Given the description of an element on the screen output the (x, y) to click on. 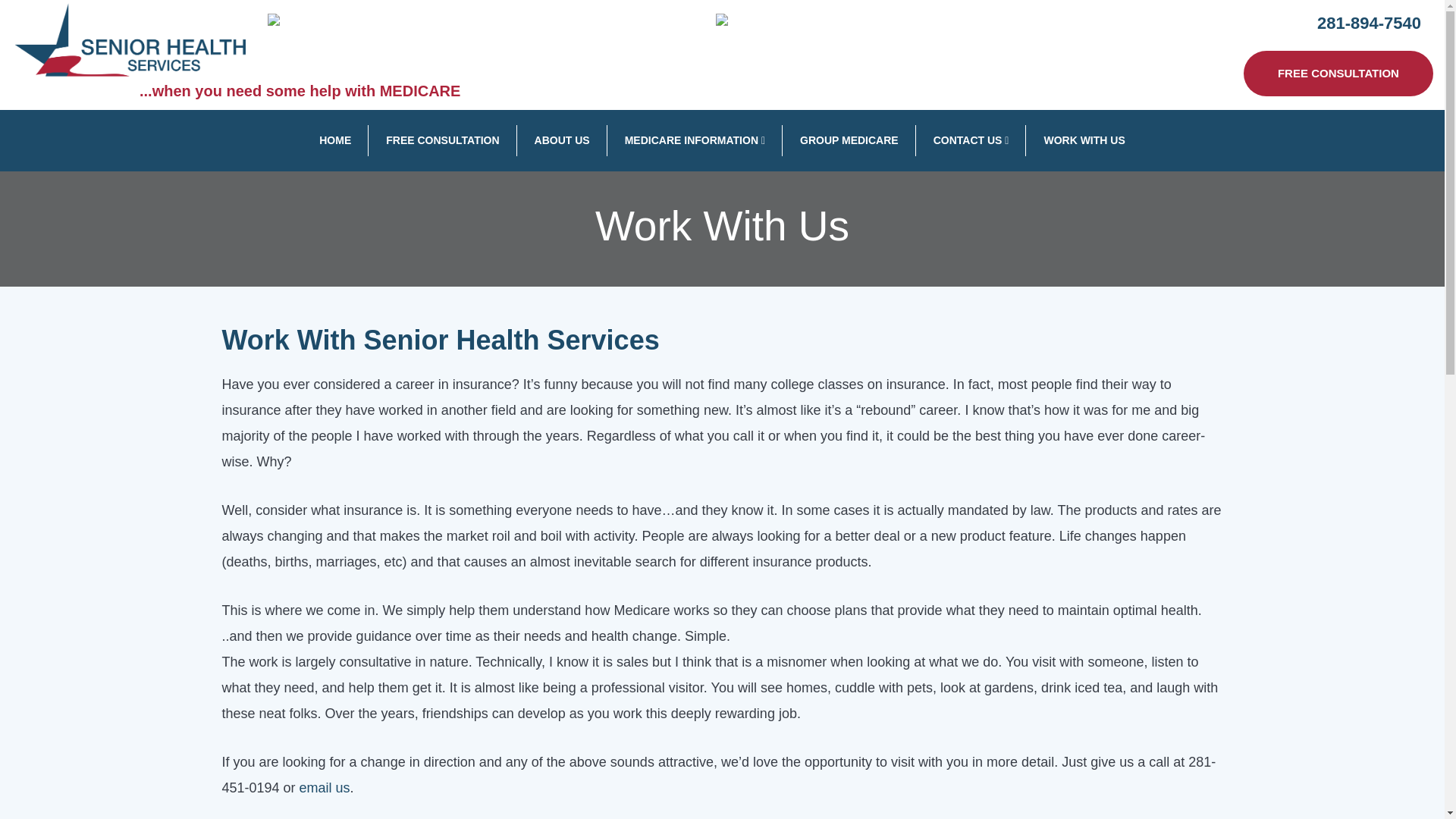
ABOUT US (561, 140)
Medicare Information  (694, 140)
email us (324, 787)
Group Medicare (848, 140)
Free Consultation (442, 140)
FREE CONSULTATION (442, 140)
WORK WITH US (1083, 140)
About Us (561, 140)
CONTACT US (970, 140)
HOME (334, 140)
